Given the description of an element on the screen output the (x, y) to click on. 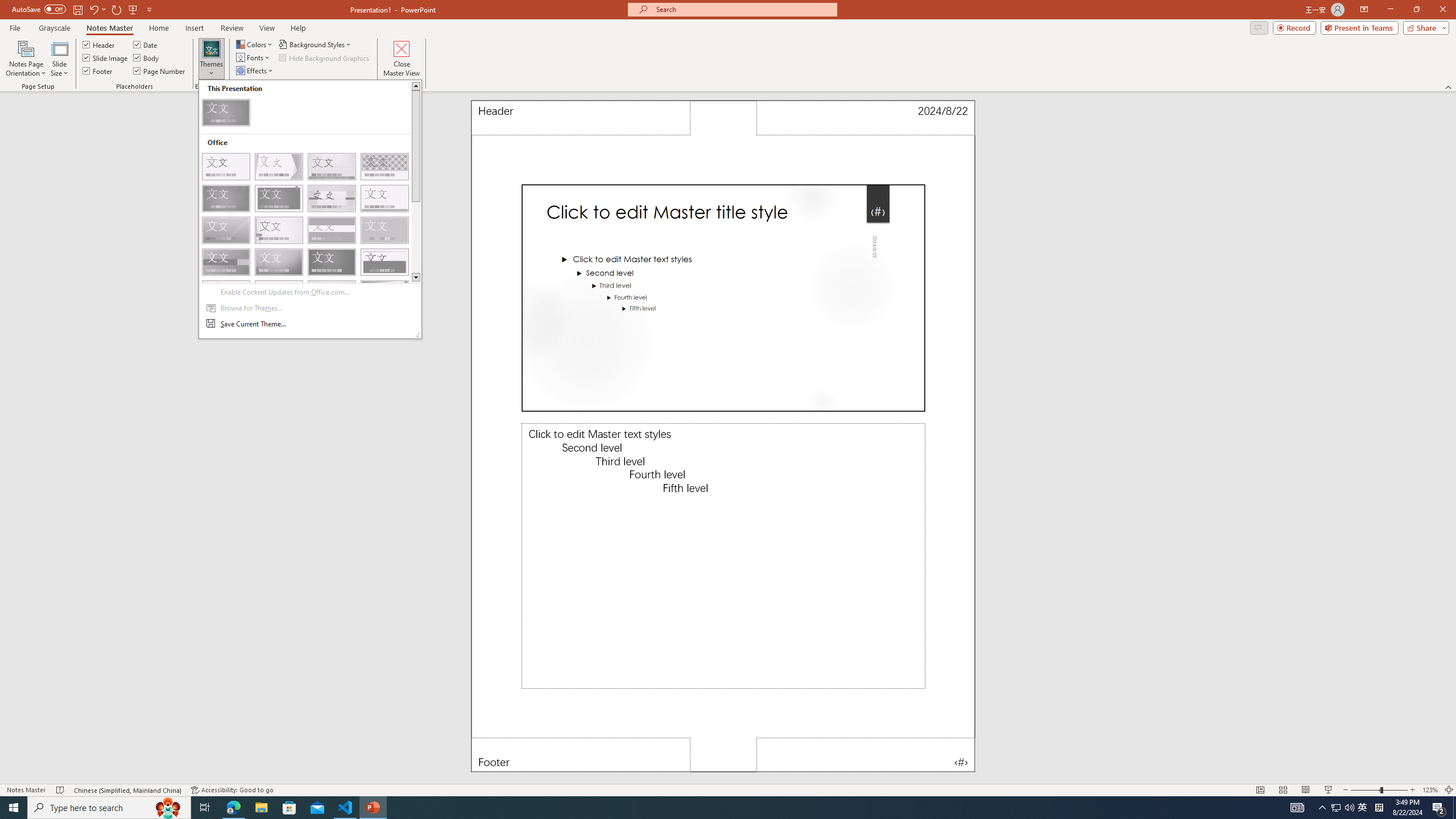
Page Number (866, 754)
Running applications (707, 807)
Page Number (160, 69)
Close Master View (400, 58)
